Given the description of an element on the screen output the (x, y) to click on. 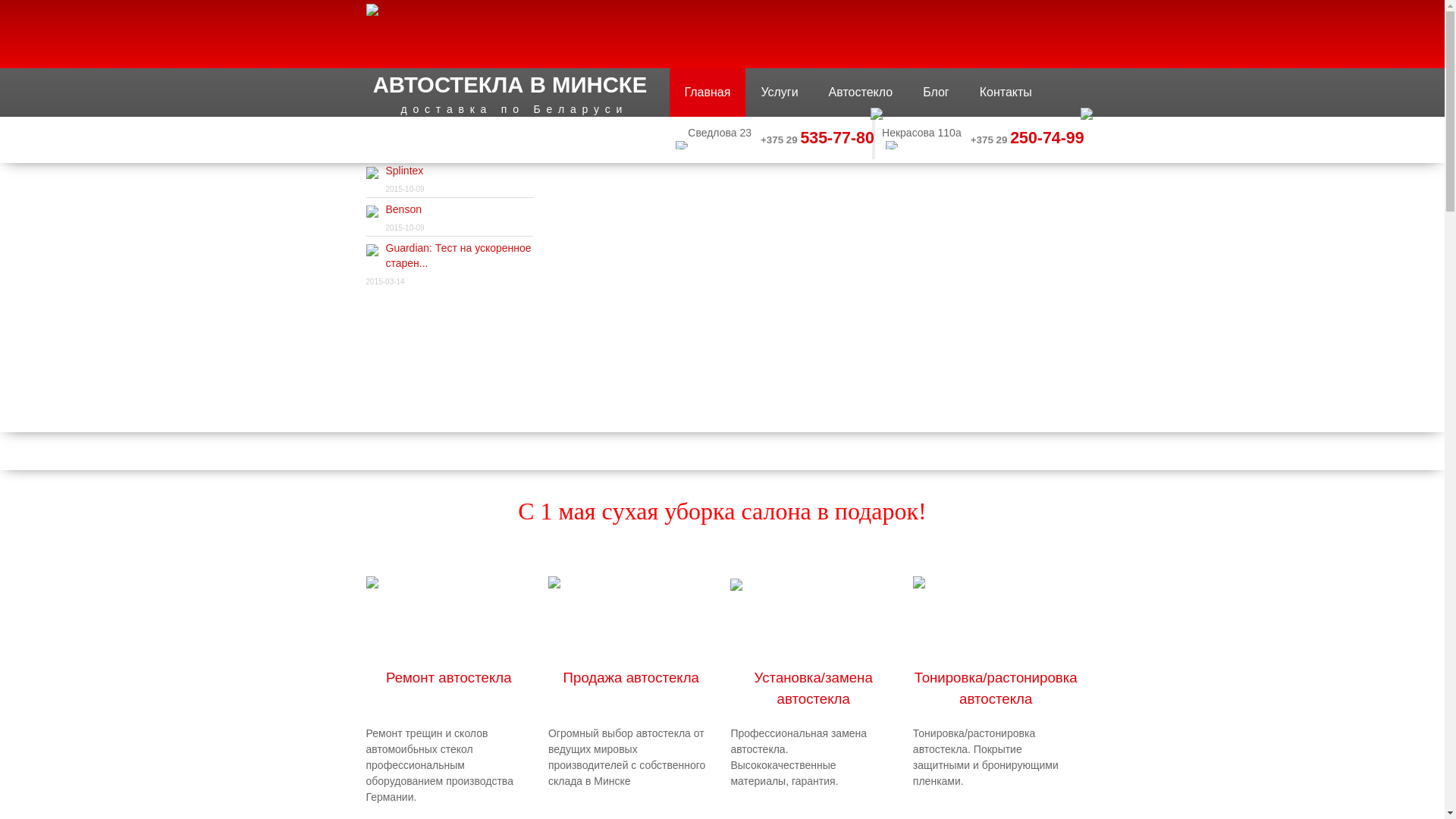
Splintex Element type: text (404, 170)
Benson Element type: hover (371, 212)
Splintex Element type: hover (371, 174)
Benson Element type: hover (371, 212)
Splintex Element type: hover (371, 173)
Benson Element type: text (402, 209)
